Given the description of an element on the screen output the (x, y) to click on. 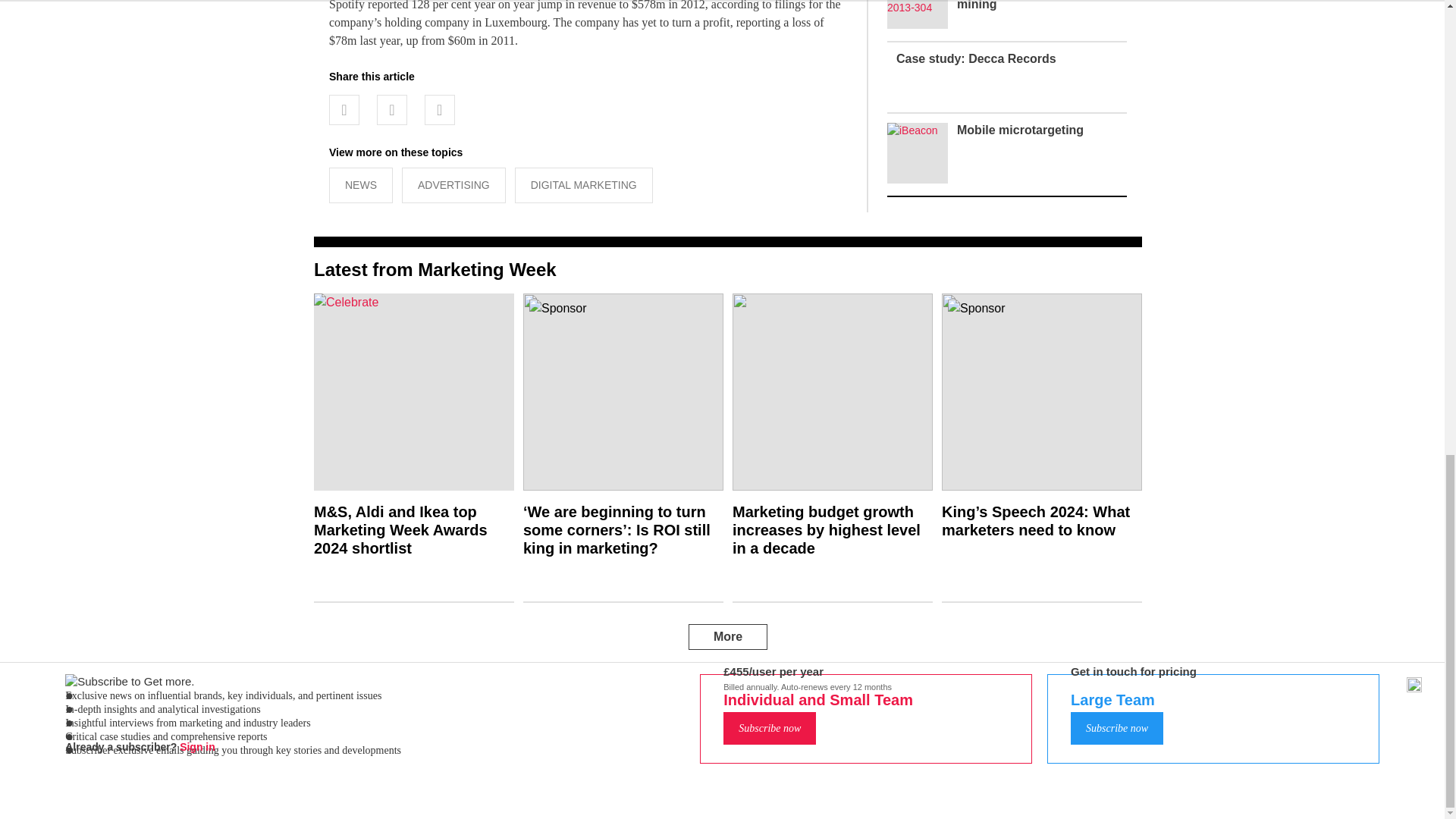
ADVERTISING (453, 185)
Latest from Marketing Week (435, 269)
Privacy (736, 711)
DIGITAL MARKETING (583, 185)
NEWS (361, 185)
